Given the description of an element on the screen output the (x, y) to click on. 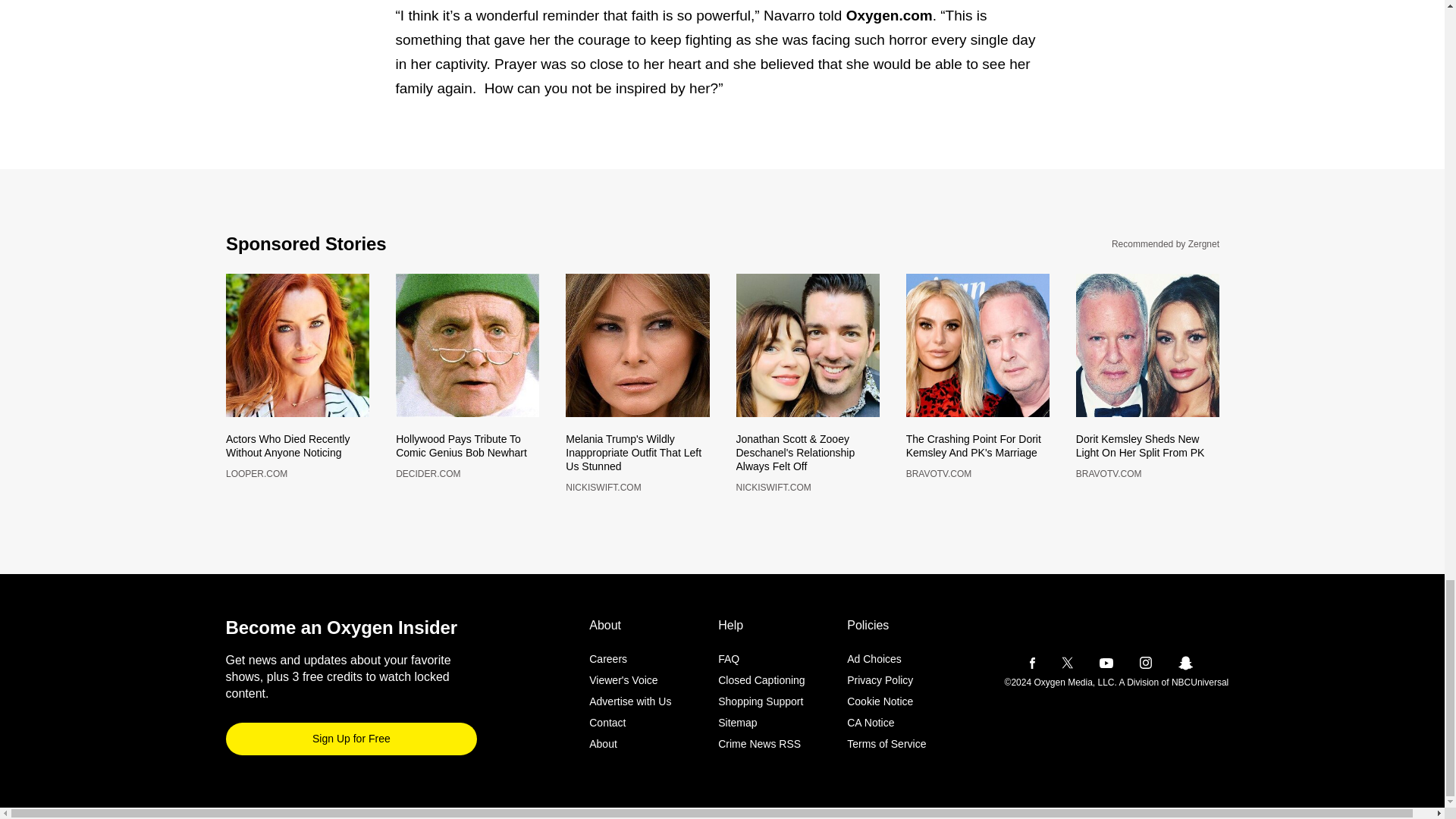
Careers (297, 456)
Viewer's Voice (608, 652)
Sign Up for Free (623, 673)
Advertise with Us (351, 731)
